Given the description of an element on the screen output the (x, y) to click on. 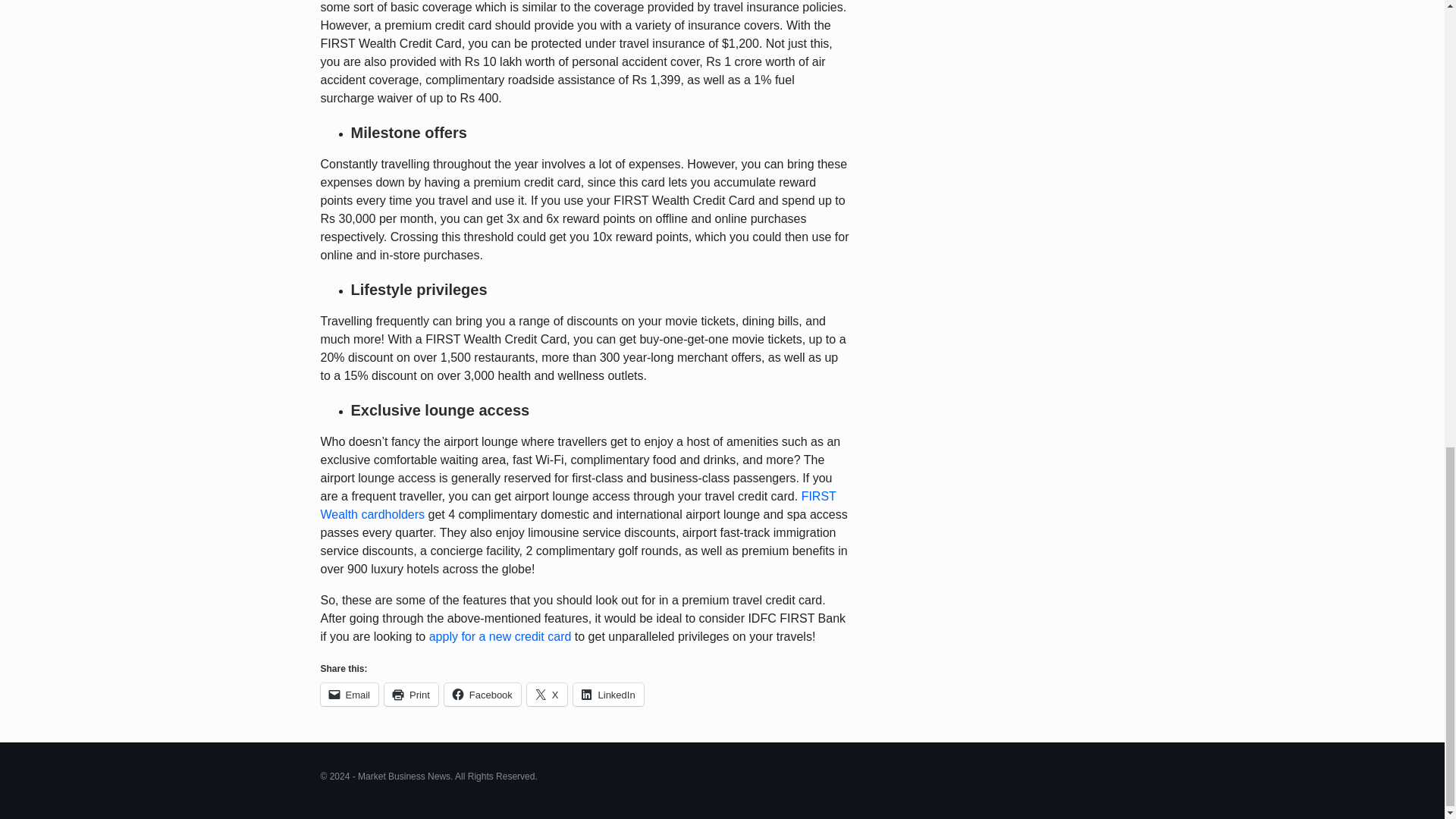
Click to email a link to a friend (349, 694)
Click to share on X (547, 694)
Click to print (411, 694)
Print (411, 694)
Click to share on Facebook (482, 694)
X (547, 694)
Email (349, 694)
LinkedIn (608, 694)
Click to share on LinkedIn (608, 694)
Facebook (482, 694)
FIRST Wealth cardholders (577, 504)
apply for a new credit card (500, 635)
